Given the description of an element on the screen output the (x, y) to click on. 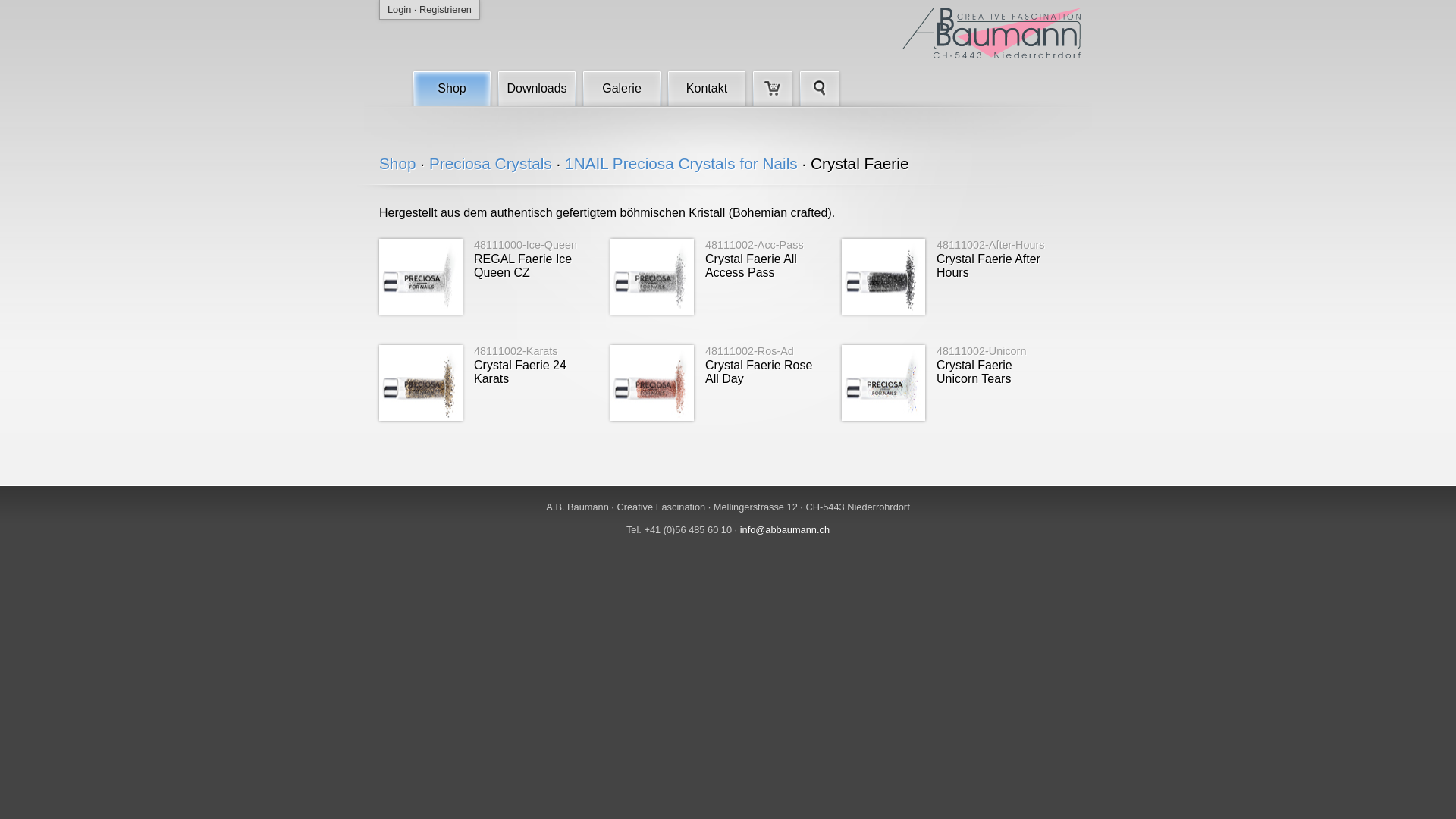
Kontakt Element type: text (706, 87)
1NAIL Preciosa Crystals for Nails Element type: text (680, 163)
Shop Element type: text (397, 163)
Registrieren Element type: text (445, 9)
48111002-Ros-Ad
Crystal Faerie Rose All Day Element type: text (716, 382)
48111000-Ice-Queen
REGAL Faerie Ice Queen CZ Element type: text (485, 276)
48111002-Acc-Pass
Crystal Faerie All Access Pass Element type: text (716, 276)
48111002-After-Hours
Crystal Faerie After Hours Element type: text (947, 276)
info@abbaumann.ch Element type: text (784, 529)
48111002-Unicorn
Crystal Faerie Unicorn Tears Element type: text (947, 382)
Galerie Element type: text (621, 87)
Downloads Element type: text (536, 87)
Login Element type: text (399, 9)
Shop Element type: text (451, 87)
Preciosa Crystals Element type: text (490, 163)
48111002-Karats
Crystal Faerie 24 Karats Element type: text (485, 382)
